Given the description of an element on the screen output the (x, y) to click on. 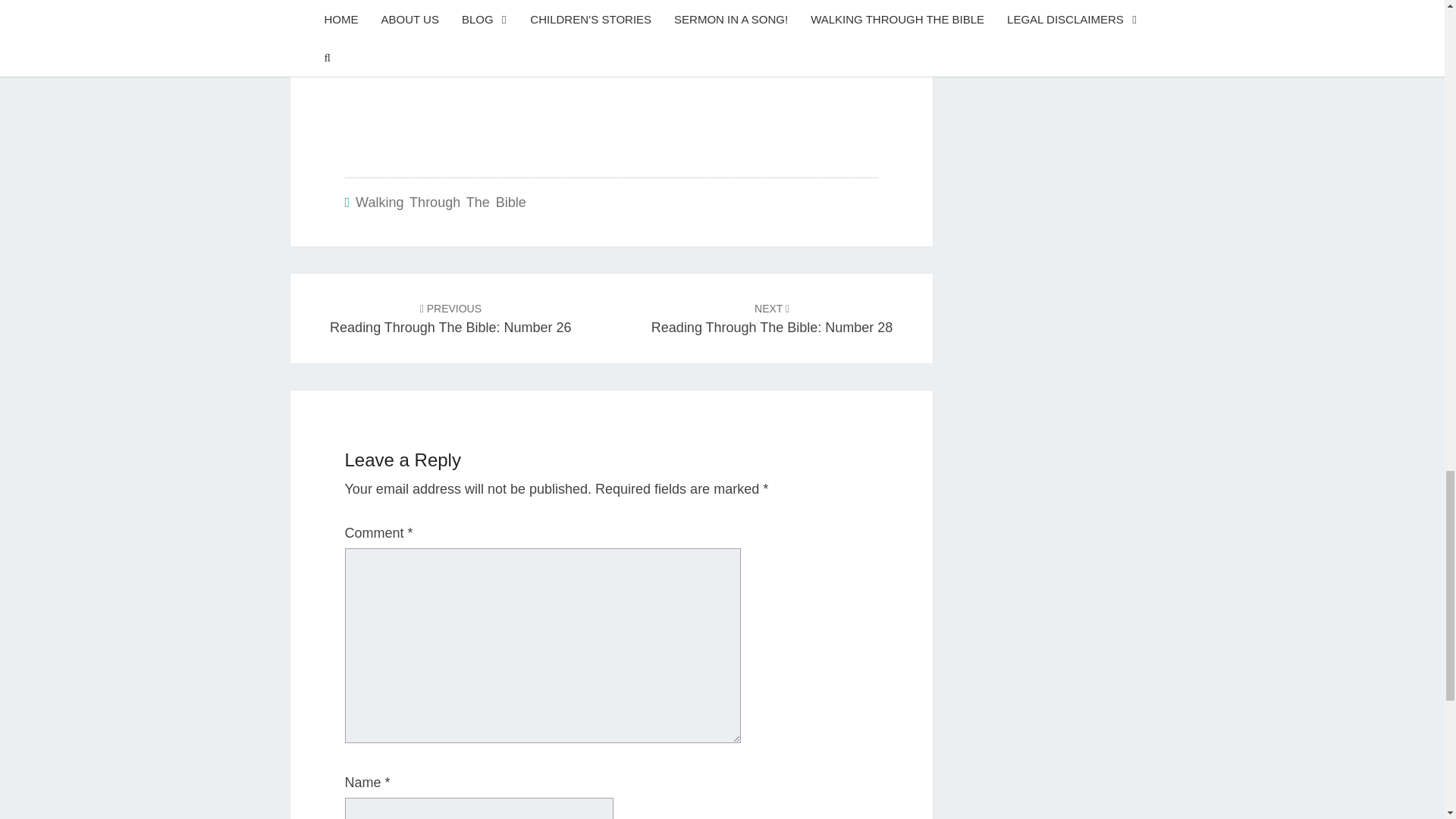
Walking Through The Bible (451, 317)
